Given the description of an element on the screen output the (x, y) to click on. 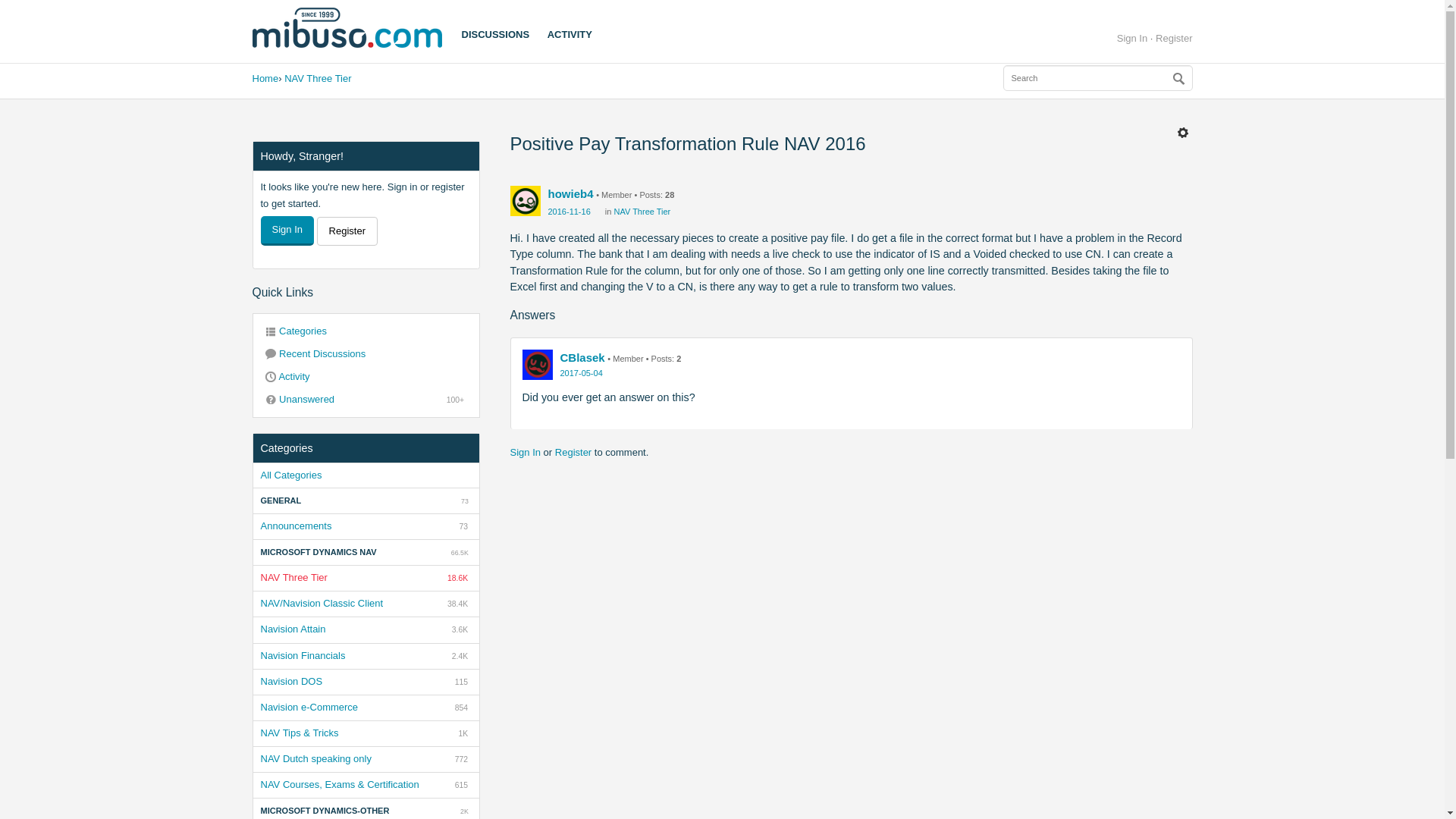
Categories (366, 331)
All Categories (366, 475)
1,996 discussions (464, 810)
Register (1174, 38)
772 discussions (460, 759)
2,427 discussions (366, 707)
DISCUSSIONS (459, 655)
Activity (487, 38)
Home (366, 376)
Recent Discussions (366, 758)
3,625 discussions (264, 78)
ACTIVITY (366, 354)
Register (459, 629)
